Given the description of an element on the screen output the (x, y) to click on. 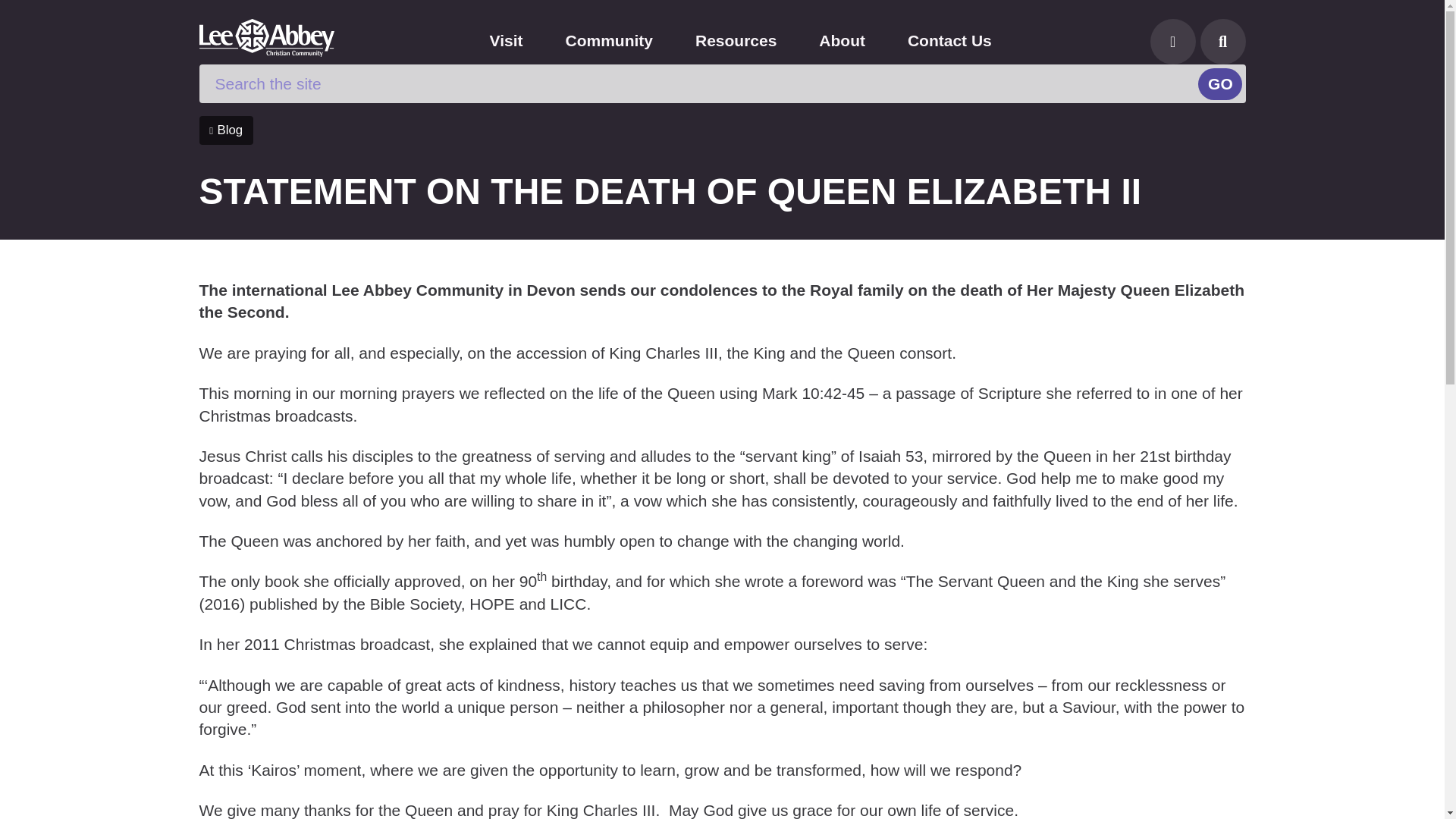
Visit (506, 40)
Go back to the blog (224, 130)
Resources (735, 40)
About (841, 40)
Go (1219, 83)
Community (609, 40)
